Given the description of an element on the screen output the (x, y) to click on. 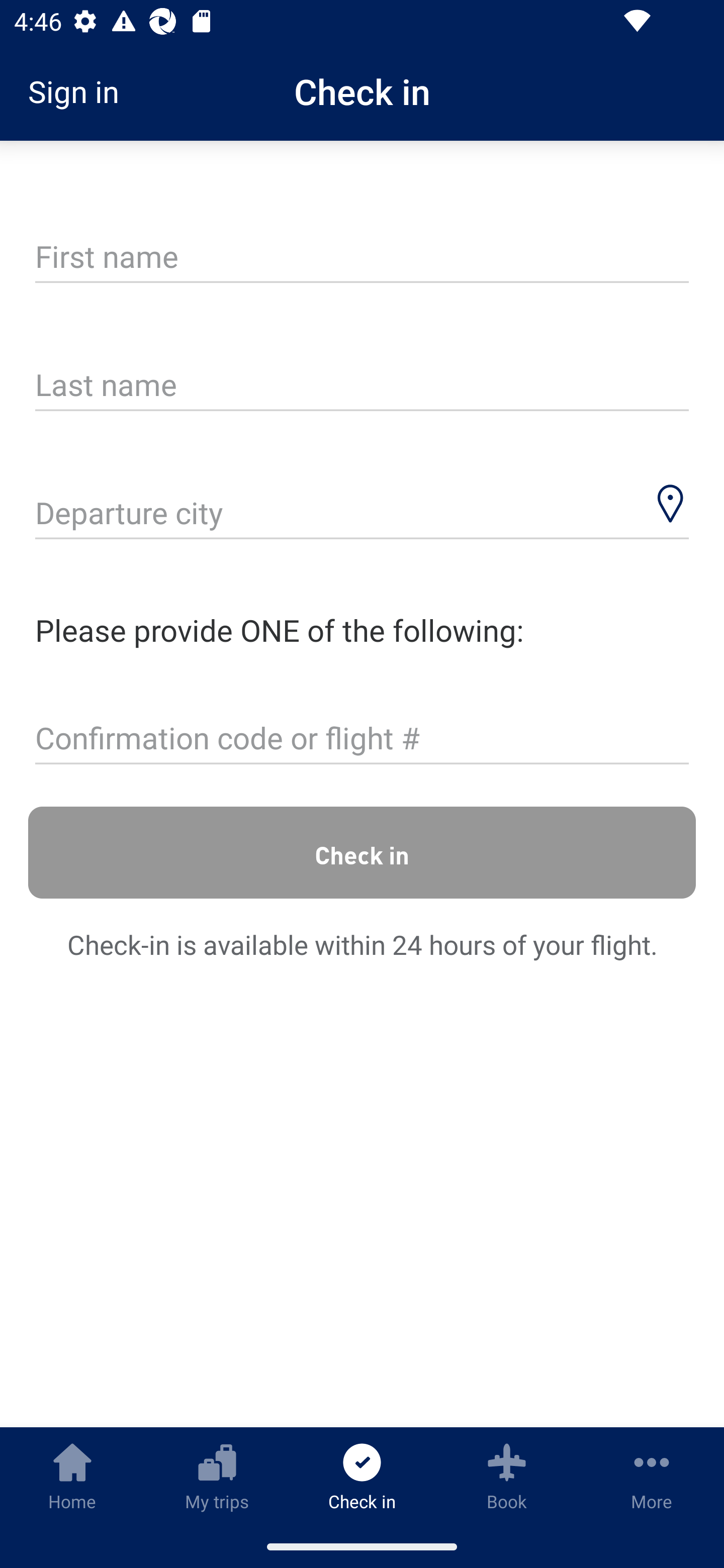
Sign in (80, 91)
First name (361, 257)
Last name (361, 386)
Departure city (361, 514)
Check in (361, 851)
Home (72, 1475)
My trips (216, 1475)
Book (506, 1475)
More (651, 1475)
